Given the description of an element on the screen output the (x, y) to click on. 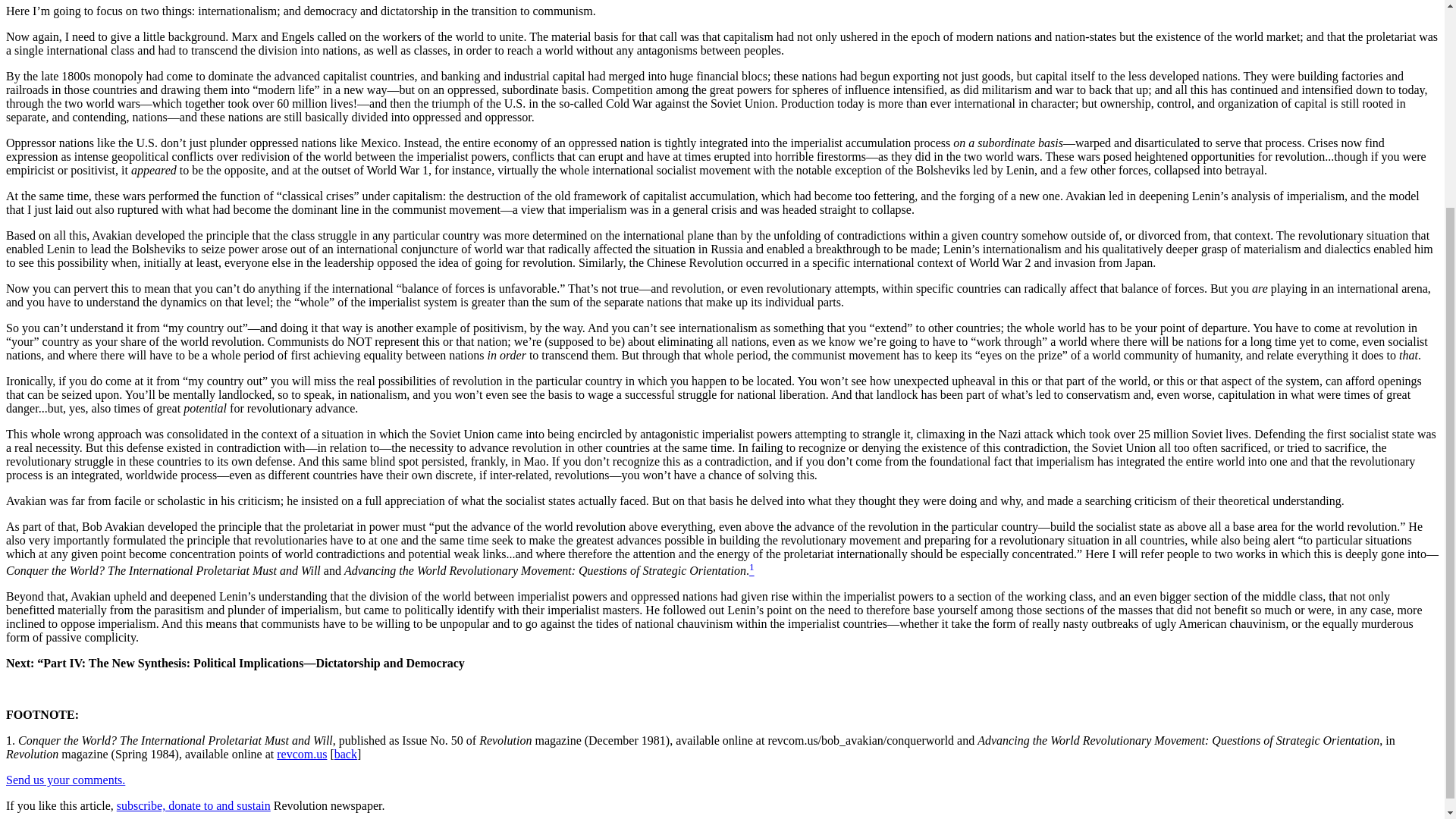
revcom.us (301, 753)
back (345, 753)
subscribe, donate to and sustain (193, 805)
Send us your comments. (65, 779)
